Given the description of an element on the screen output the (x, y) to click on. 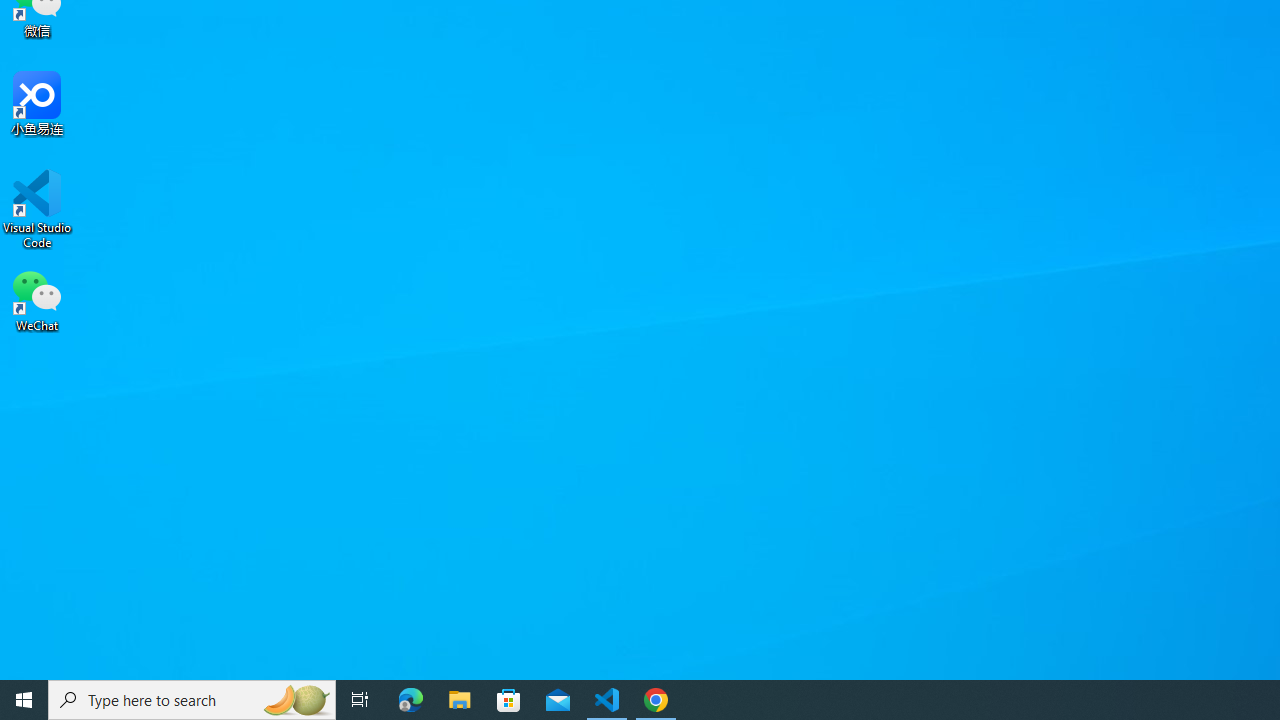
Visual Studio Code (37, 209)
WeChat (37, 299)
